Given the description of an element on the screen output the (x, y) to click on. 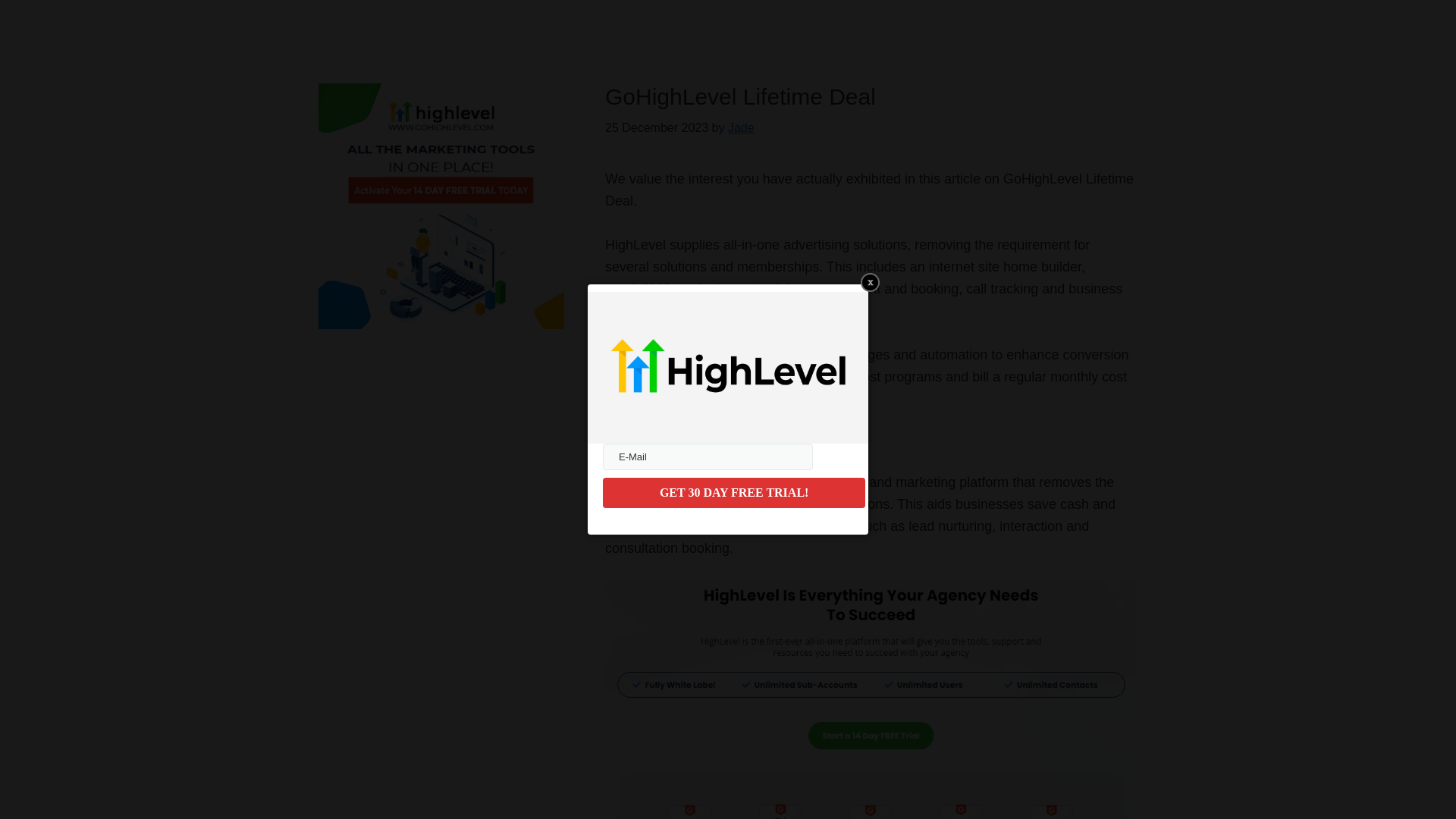
GET 30 DAY FREE TRIAL! (733, 492)
GET 30 DAY FREE TRIAL! (733, 492)
Jade (741, 127)
